Given the description of an element on the screen output the (x, y) to click on. 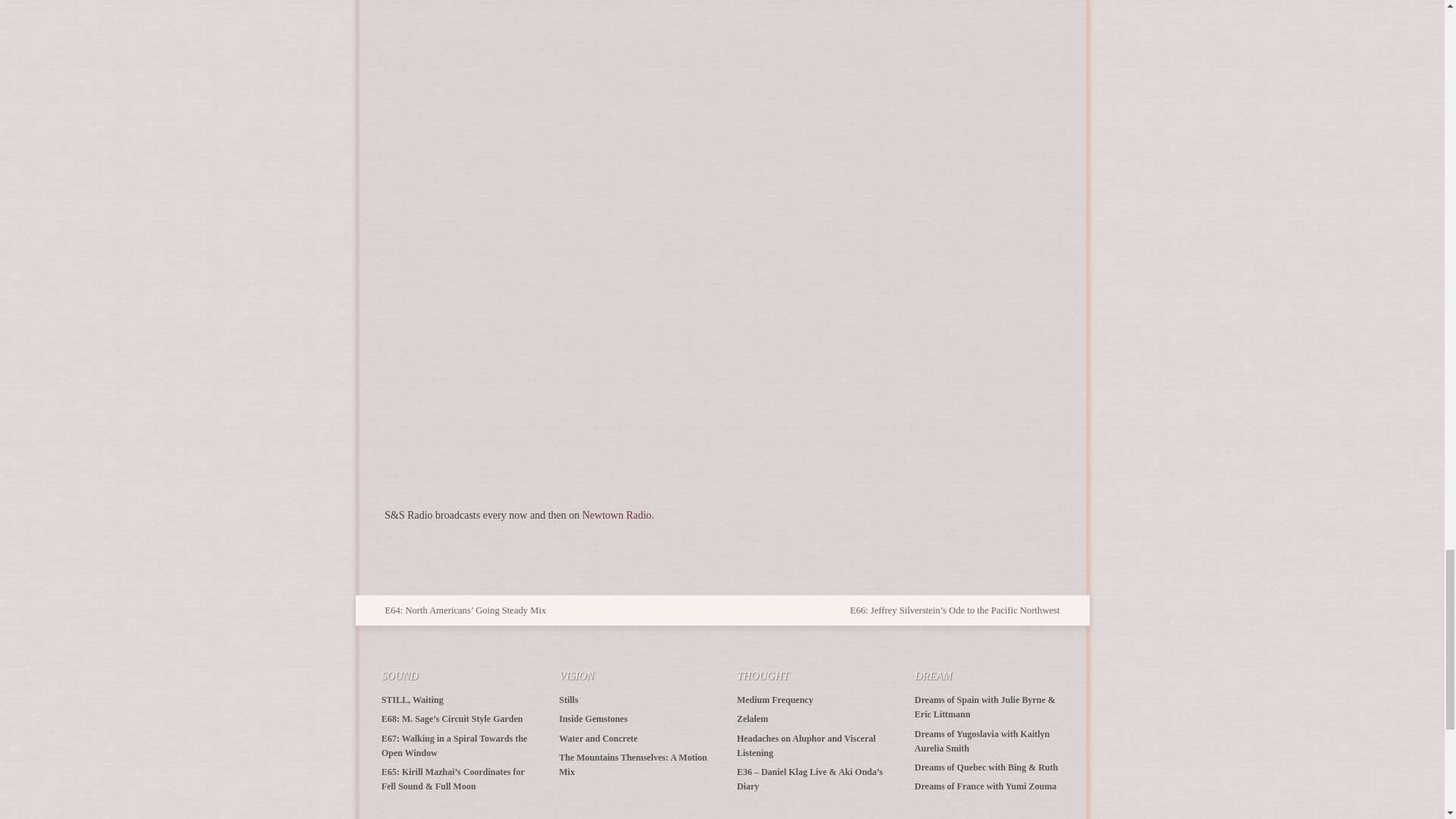
Permanent link to Water and Concrete (598, 738)
Permanent link to STILL, Waiting (412, 699)
E67: Walking in a Spiral Towards the Open Window (454, 745)
STILL, Waiting (412, 699)
Permanent link to Medium Frequency (774, 699)
Permanent link to The Mountains Themselves: A Motion Mix (632, 764)
Permanent link to Zelalem (752, 718)
Permanent link to Stills (568, 699)
Permanent link to Inside Gemstones (593, 718)
Newtown Radio (616, 514)
